Given the description of an element on the screen output the (x, y) to click on. 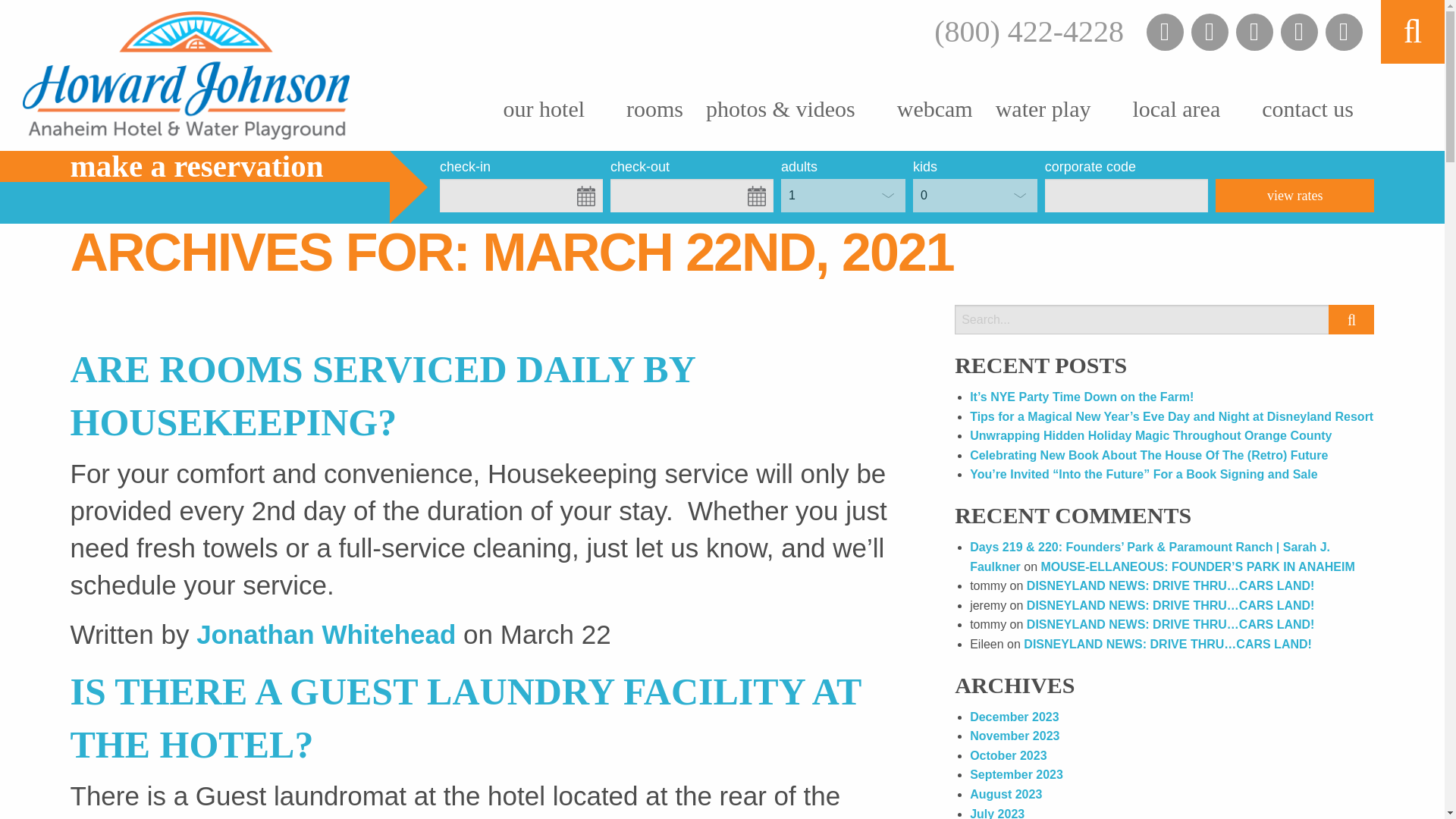
Twitter (1209, 31)
Instagram (1299, 31)
our hotel (544, 110)
water play (1042, 110)
webcam (934, 110)
contact us (1308, 110)
YouTube (1254, 31)
Facebook (1165, 31)
rooms (654, 110)
Yelp (1343, 31)
